Given the description of an element on the screen output the (x, y) to click on. 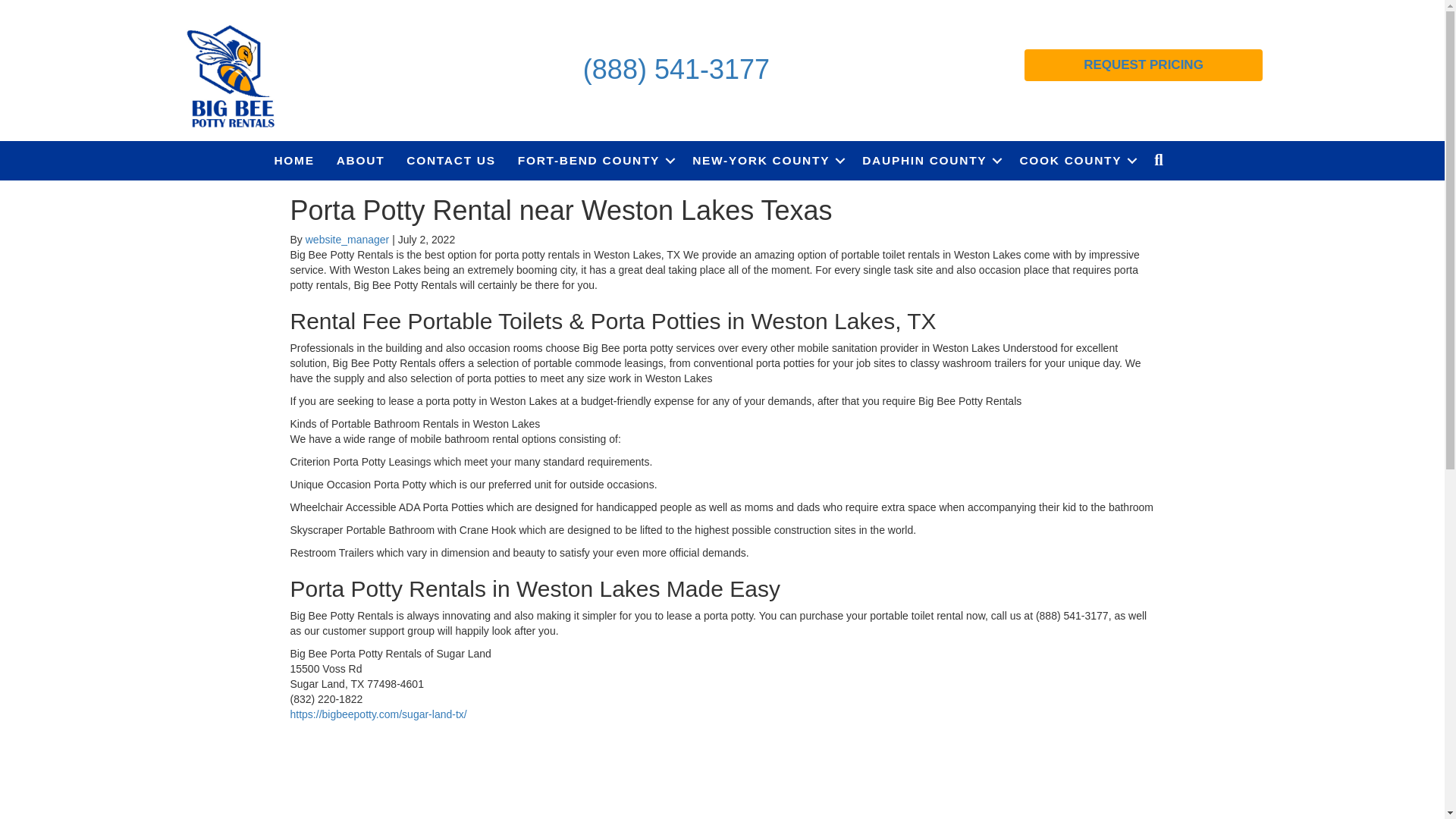
NEW-YORK COUNTY (765, 160)
COOK COUNTY (1075, 160)
CONTACT US (450, 160)
REQUEST PRICING (1144, 65)
Skip to content (34, 6)
FORT-BEND COUNTY (593, 160)
HOME (293, 160)
DAUPHIN COUNTY (929, 160)
ABOUT (361, 160)
